Given the description of an element on the screen output the (x, y) to click on. 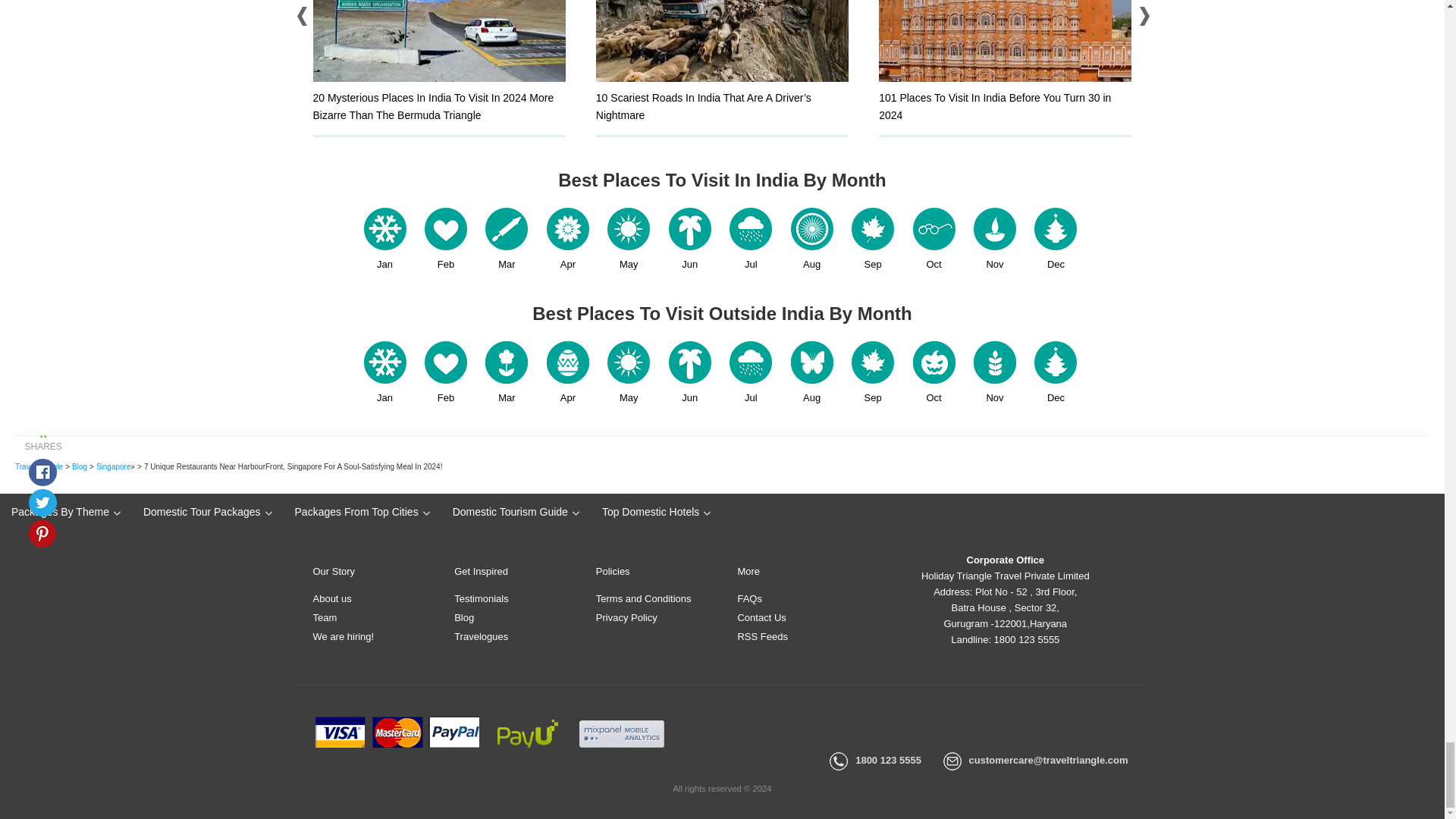
View all posts in Singapore (113, 466)
Blog (79, 466)
TravelTriangle (38, 466)
